Given the description of an element on the screen output the (x, y) to click on. 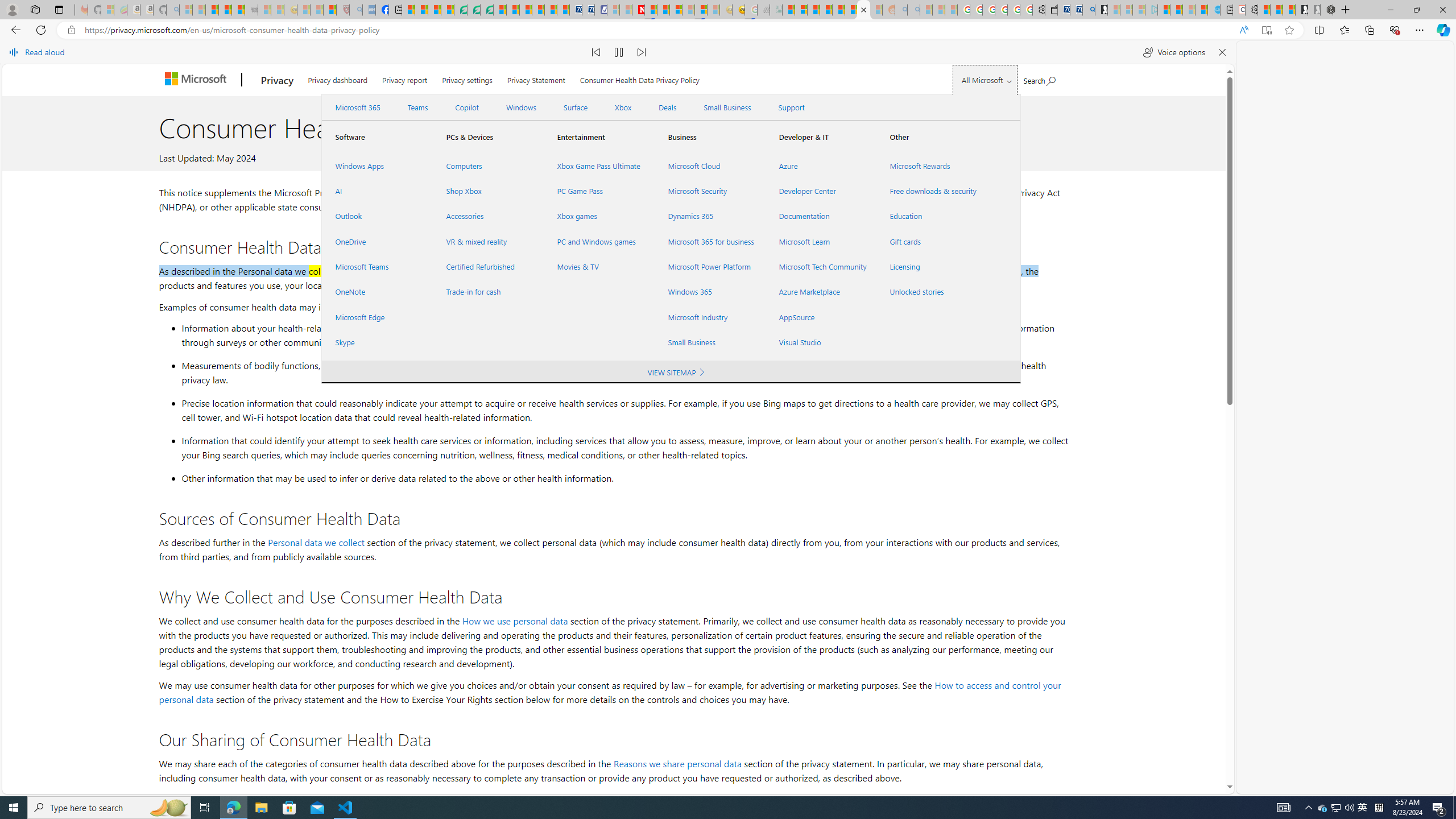
Pause read aloud (Ctrl+Shift+U) (618, 52)
PC and Windows games (599, 240)
Close read aloud (1221, 52)
Microsoft 365 for business (709, 240)
Shop Xbox (487, 190)
Student Loan Update: Forgiveness Program Ends This Month (826, 9)
Privacy report (404, 77)
AppSource (820, 317)
Microsoft Security (709, 190)
